Given the description of an element on the screen output the (x, y) to click on. 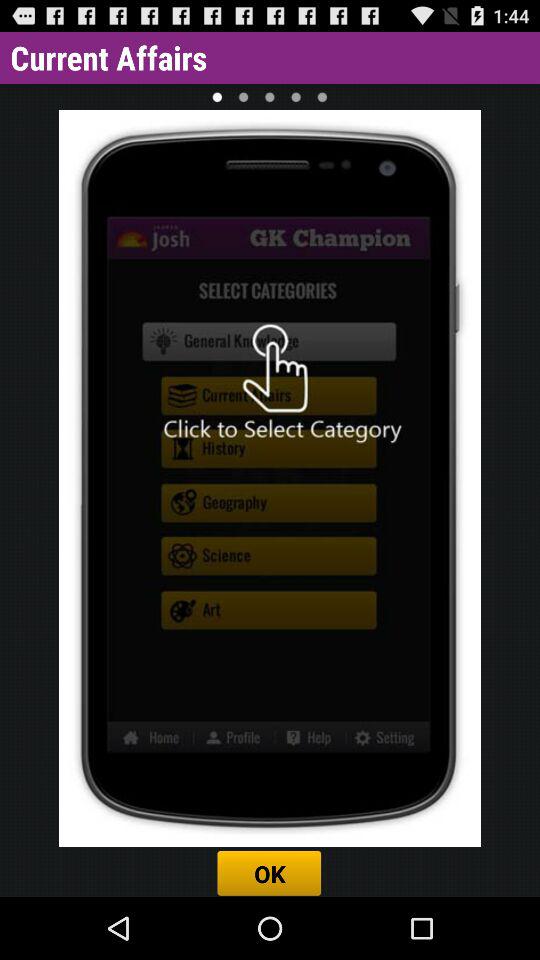
go to 2nd page (243, 96)
